Given the description of an element on the screen output the (x, y) to click on. 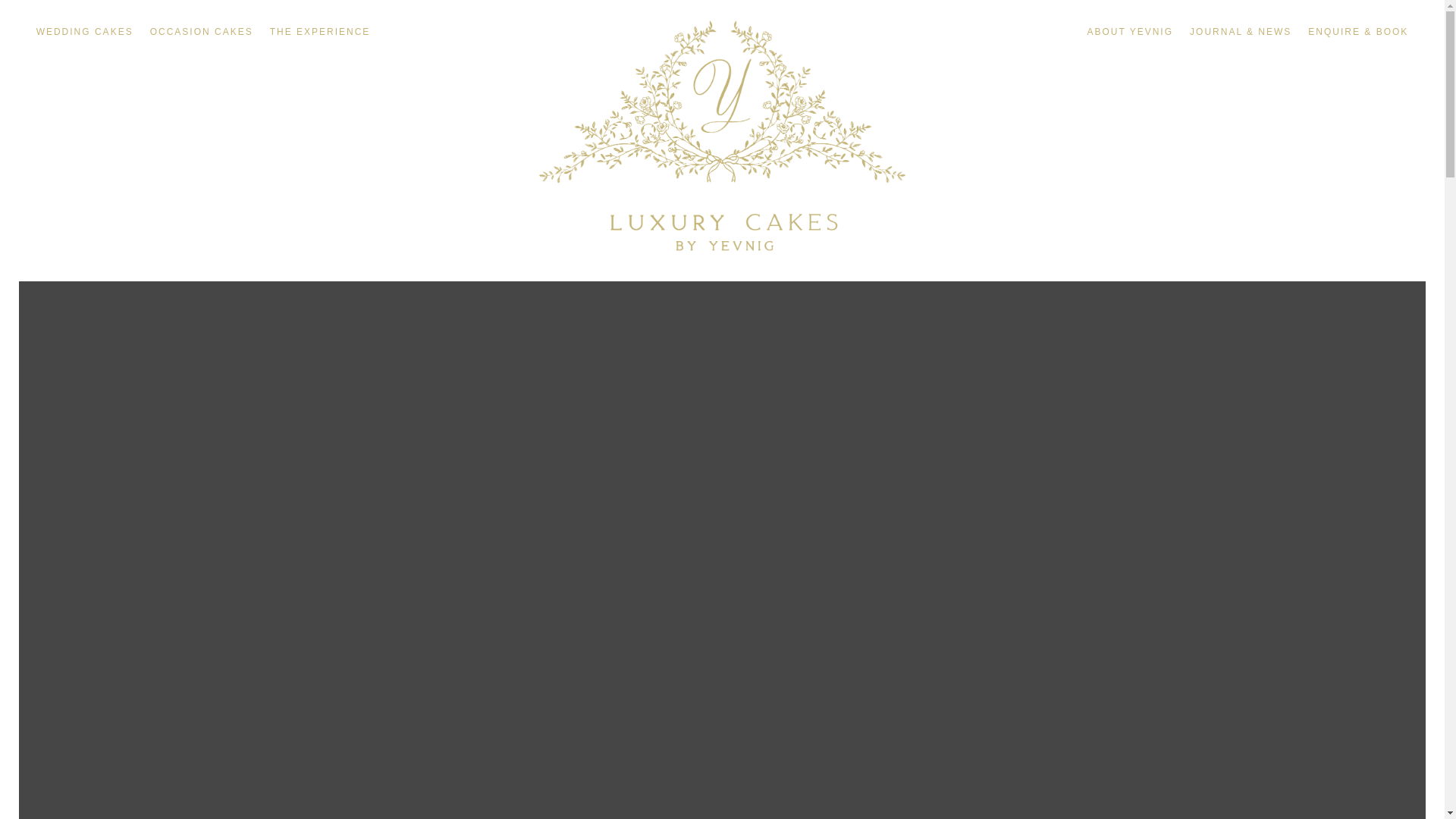
OCCASION CAKES (201, 34)
THE EXPERIENCE (320, 34)
WEDDING CAKES (84, 34)
By Yevnig - Luxury Cakes - Logo Artwork (721, 135)
ABOUT YEVNIG (1129, 34)
